Given the description of an element on the screen output the (x, y) to click on. 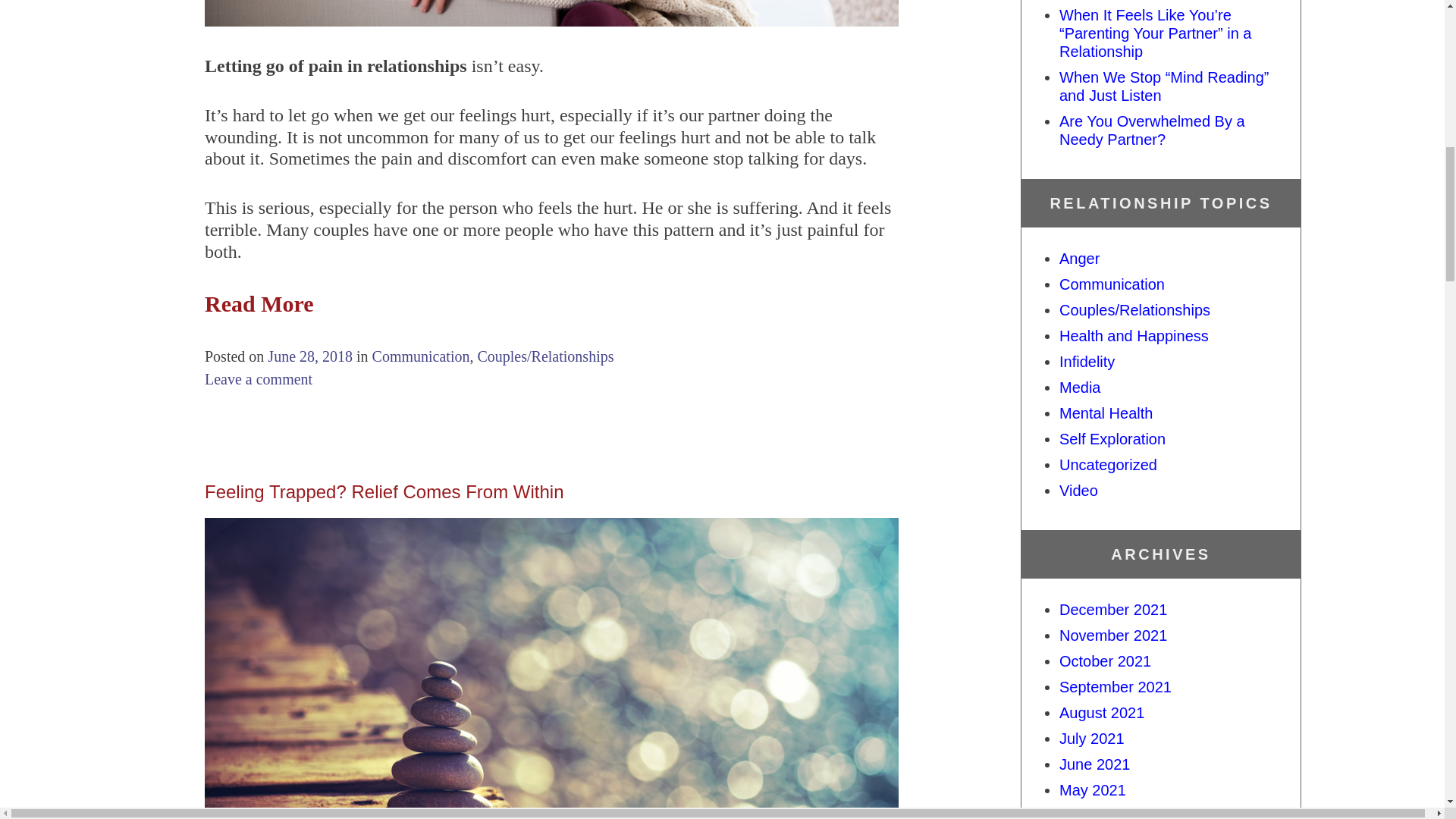
6:10 pm (309, 355)
Read More (259, 303)
Permalink to Feeling Trapped? Relief Comes From Within (384, 490)
Feeling Trapped? Relief Comes From Within (384, 490)
Leave a comment (259, 378)
Communication (421, 355)
June 28, 2018 (309, 355)
